Given the description of an element on the screen output the (x, y) to click on. 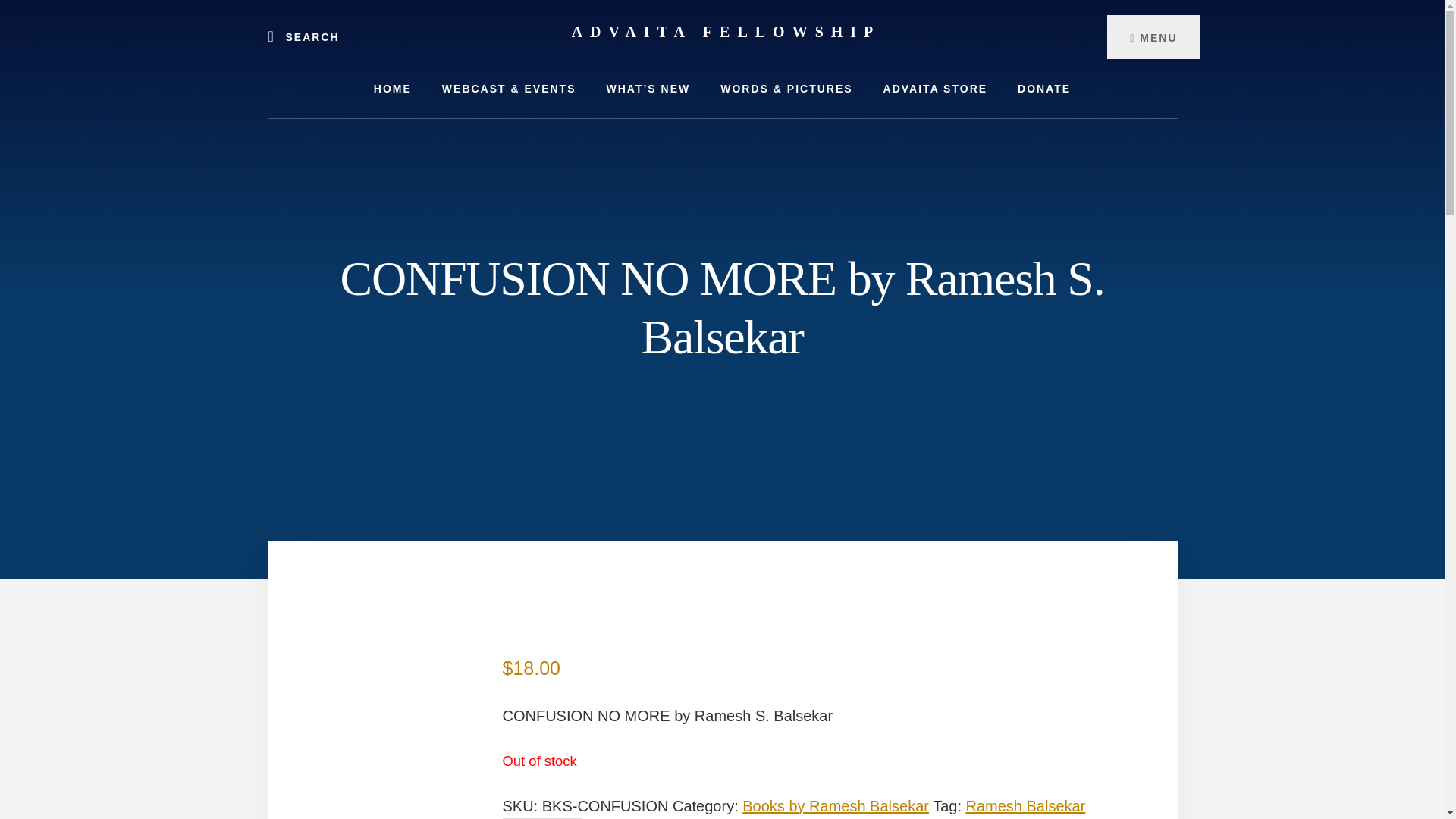
ADVAITA STORE (935, 87)
MENU (1152, 36)
Ramesh Balsekar (1026, 805)
HOME (392, 87)
ADVAITA FELLOWSHIP (726, 31)
Books by Ramesh Balsekar (835, 805)
